Given the description of an element on the screen output the (x, y) to click on. 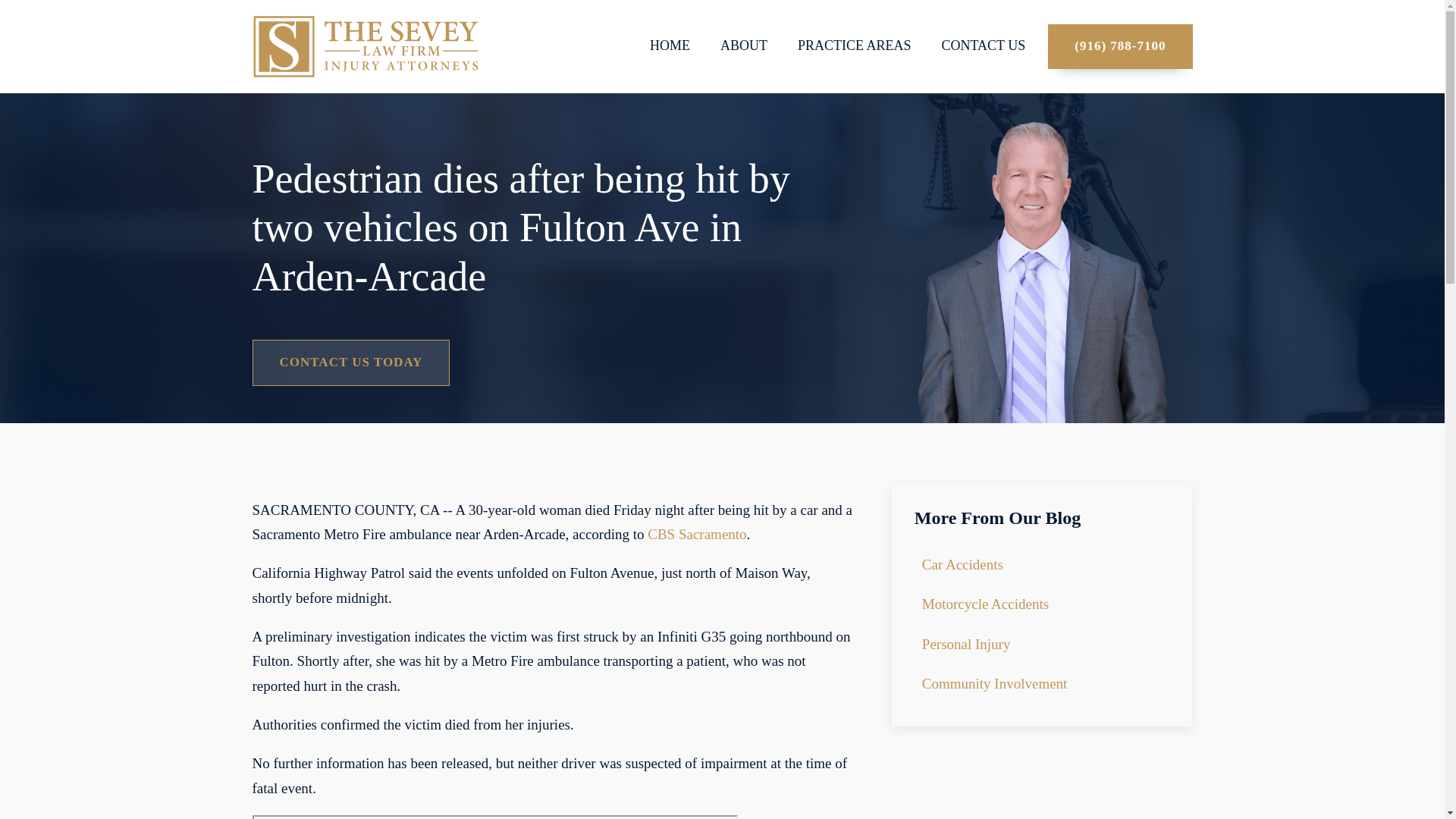
Personal Injury (994, 644)
CONTACT US (983, 46)
Motorcycle Accidents (994, 604)
Community Involvement (994, 683)
PRACTICE AREAS (854, 46)
CBS Sacramento (696, 534)
HOME (669, 46)
ABOUT (743, 46)
Car Accidents (994, 564)
CONTACT US TODAY (350, 362)
